Given the description of an element on the screen output the (x, y) to click on. 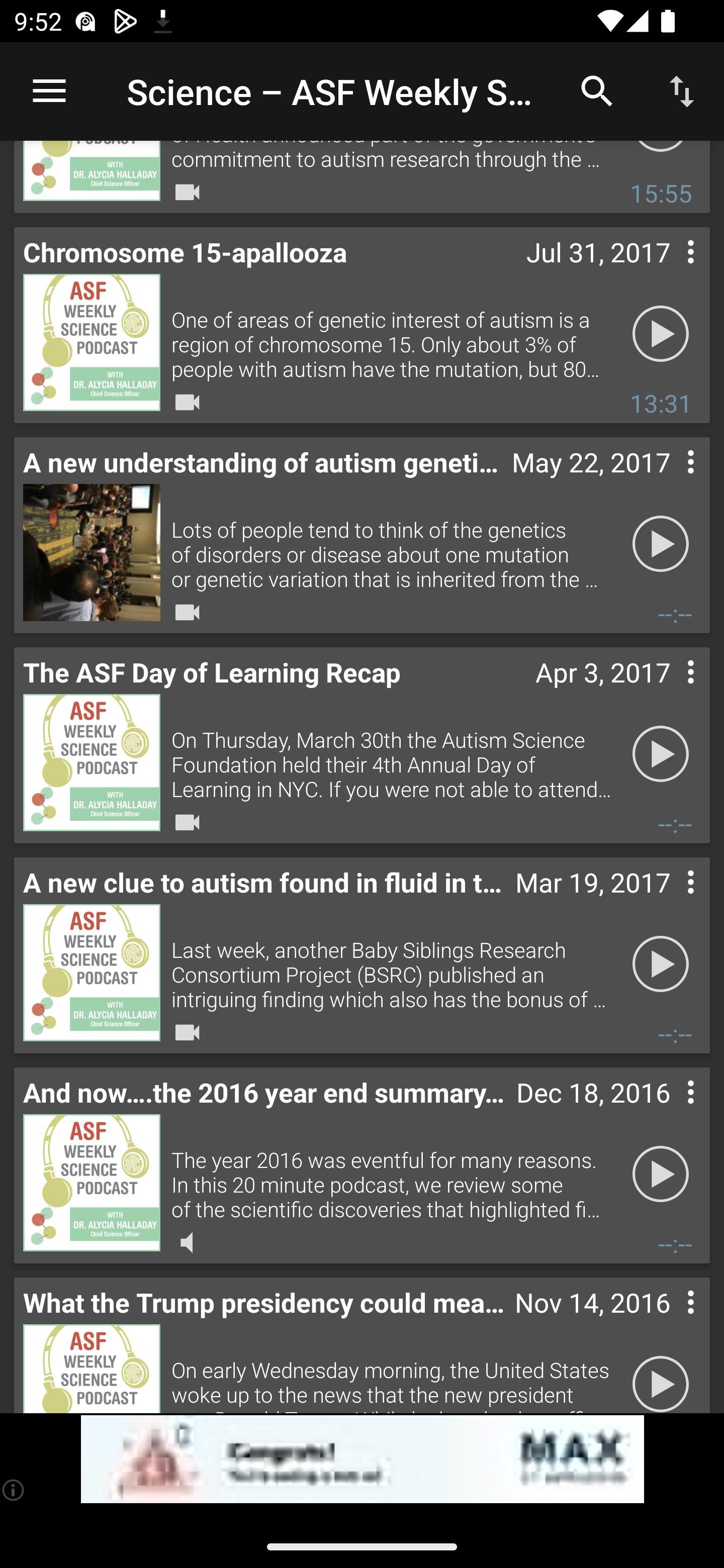
Open navigation sidebar (49, 91)
Search (597, 90)
Sort (681, 90)
Contextual menu (668, 271)
Play (660, 332)
Contextual menu (668, 481)
Play (660, 542)
Contextual menu (668, 691)
Play (660, 753)
Contextual menu (668, 901)
Play (660, 963)
Contextual menu (668, 1112)
Play (660, 1173)
Contextual menu (668, 1322)
Play (660, 1373)
app-monetization (362, 1459)
(i) (14, 1489)
